Given the description of an element on the screen output the (x, y) to click on. 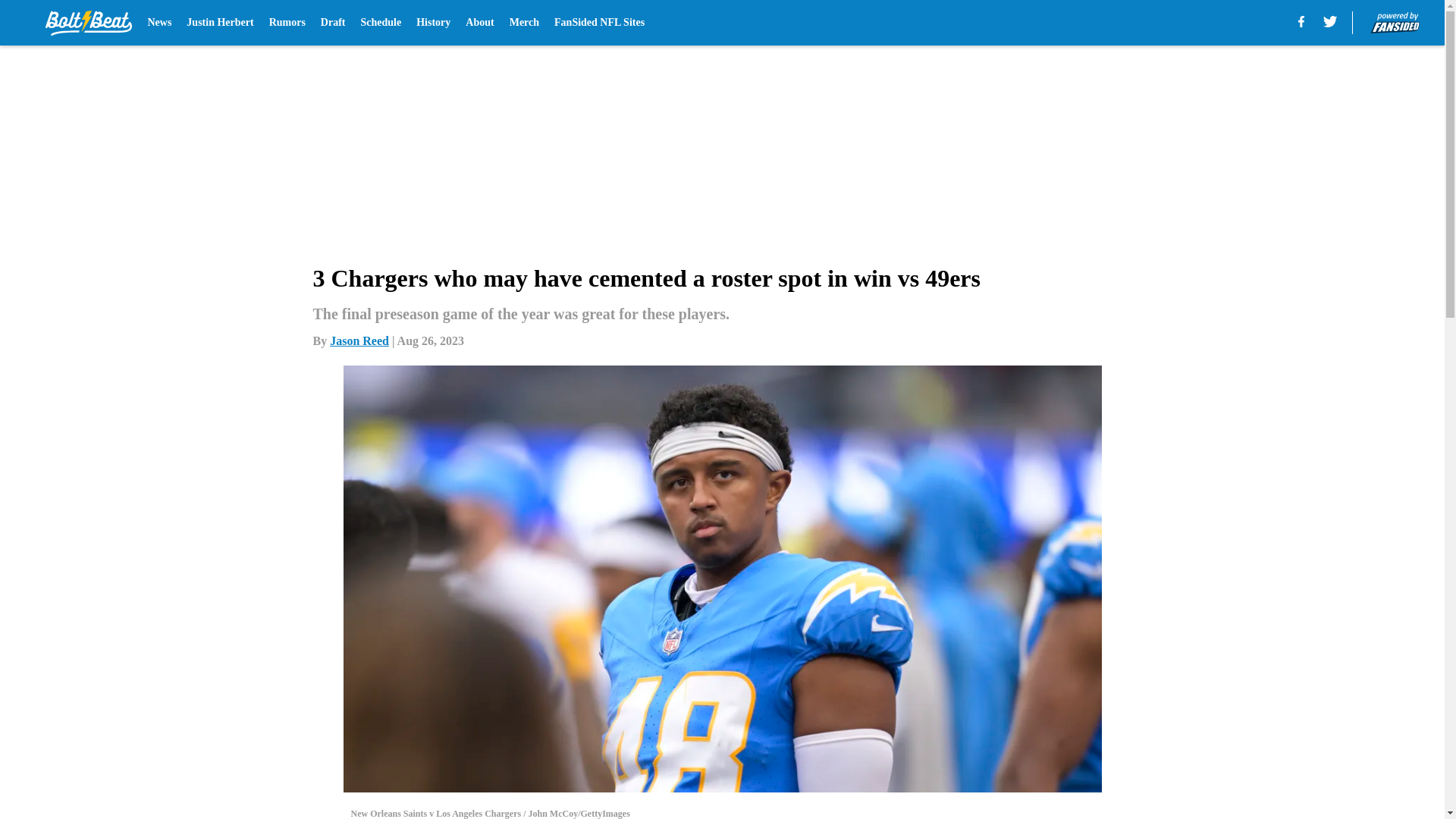
About (479, 22)
News (159, 22)
Jason Reed (359, 340)
History (432, 22)
Rumors (287, 22)
Merch (523, 22)
Schedule (381, 22)
Draft (333, 22)
Justin Herbert (219, 22)
